Given the description of an element on the screen output the (x, y) to click on. 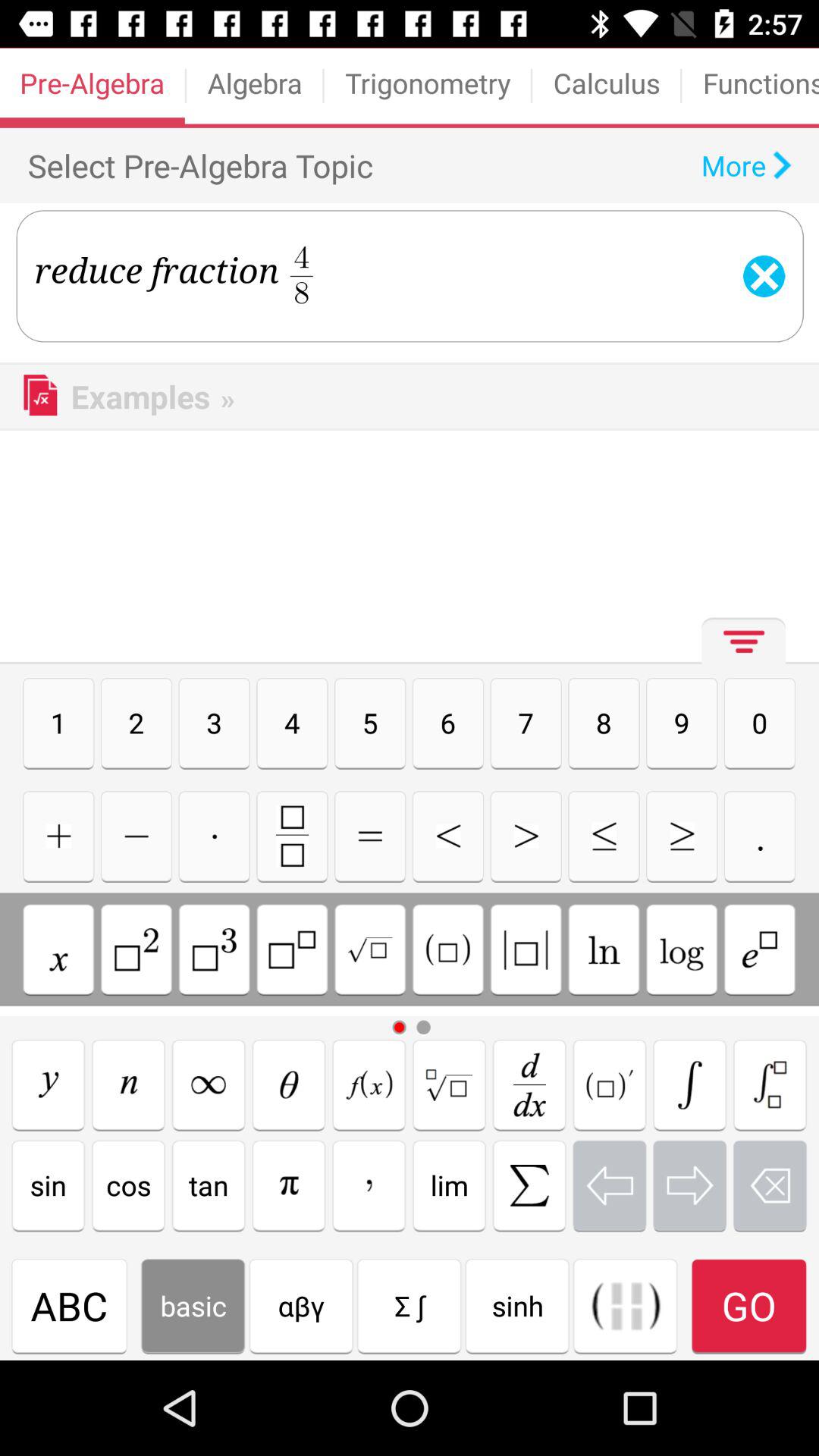
go to equal option (370, 835)
